Given the description of an element on the screen output the (x, y) to click on. 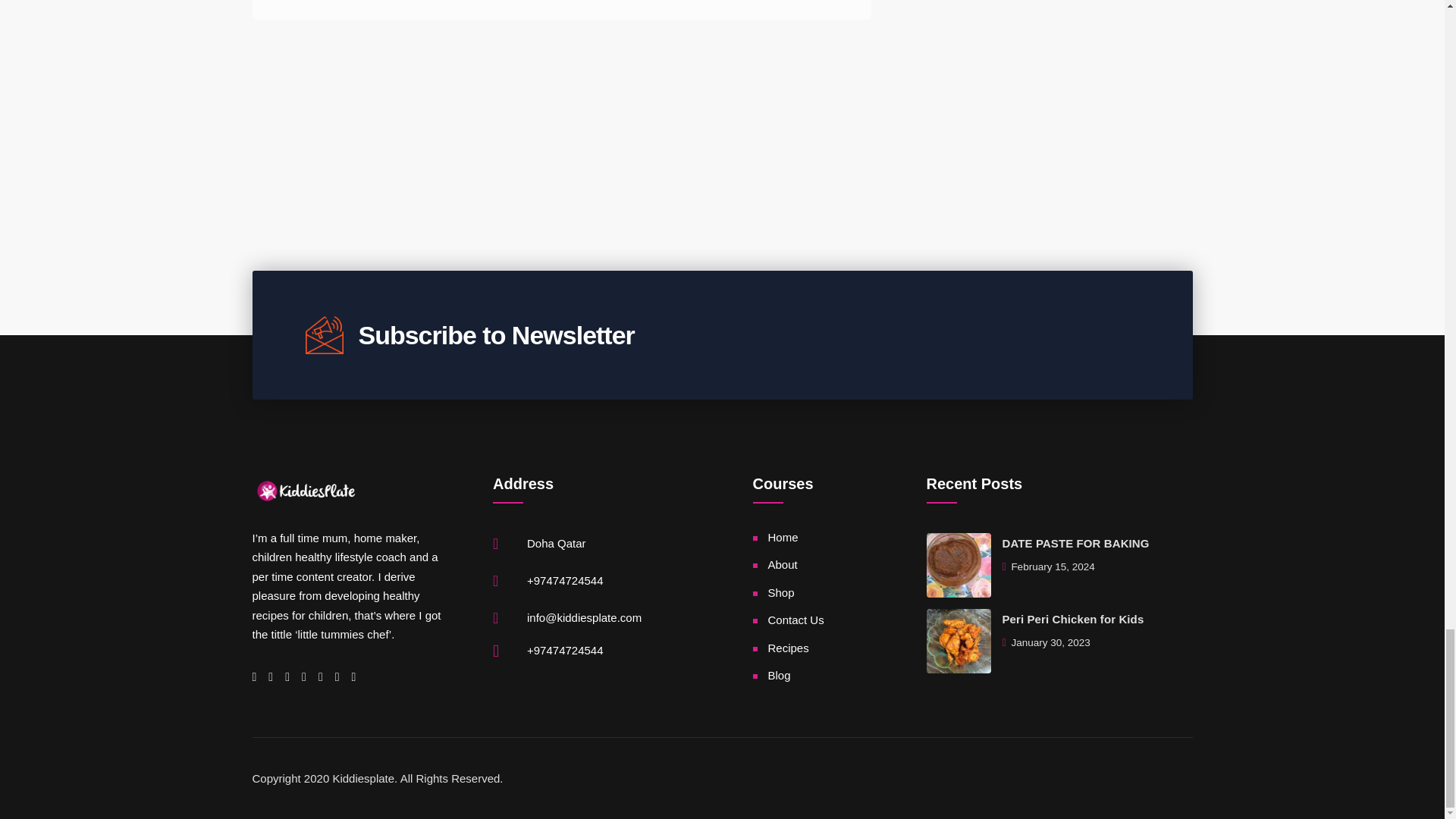
Advertisement (721, 144)
Advertisement (564, 61)
